Given the description of an element on the screen output the (x, y) to click on. 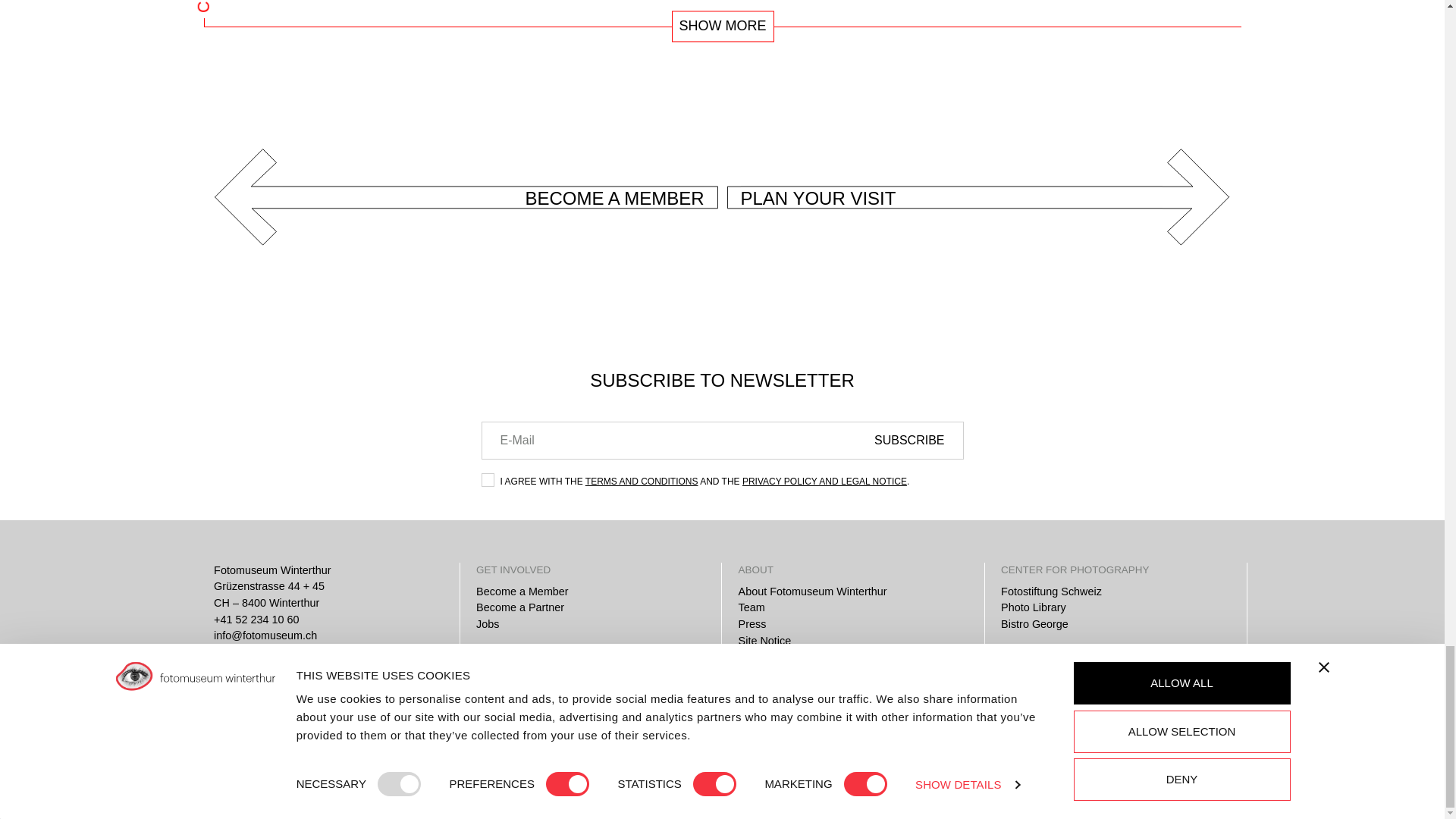
newsletter (487, 479)
